Given the description of an element on the screen output the (x, y) to click on. 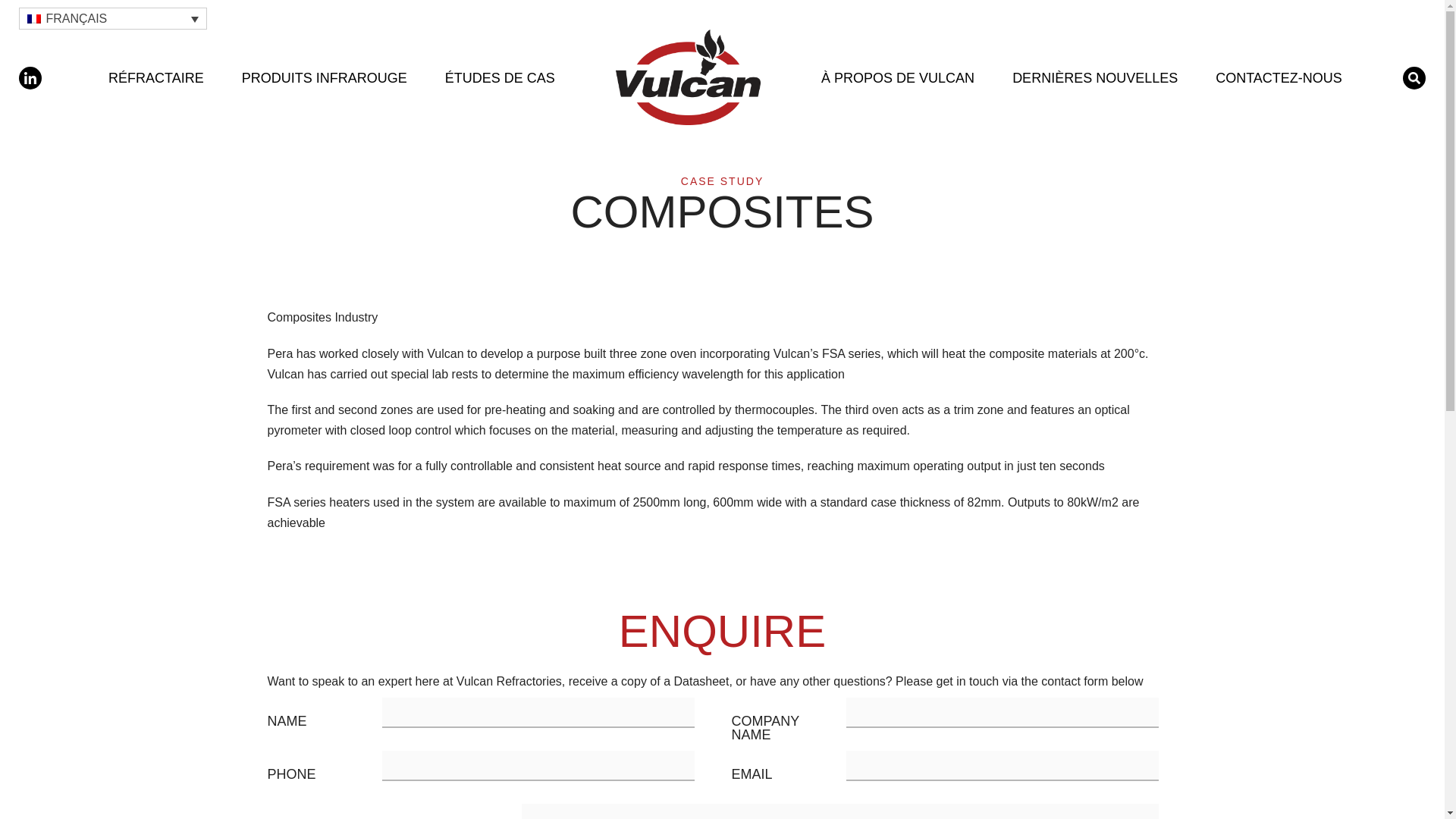
Connect with us on LinkedIn (30, 77)
CONTACTEZ-NOUS (1278, 77)
Search the site (1414, 77)
PRODUITS INFRAROUGE (324, 77)
